Given the description of an element on the screen output the (x, y) to click on. 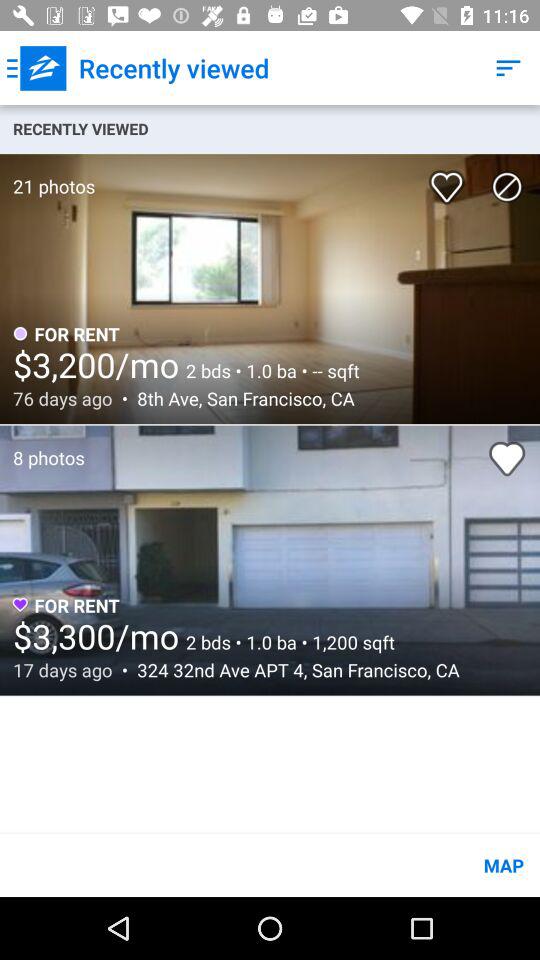
swipe until 21 photos (47, 176)
